Given the description of an element on the screen output the (x, y) to click on. 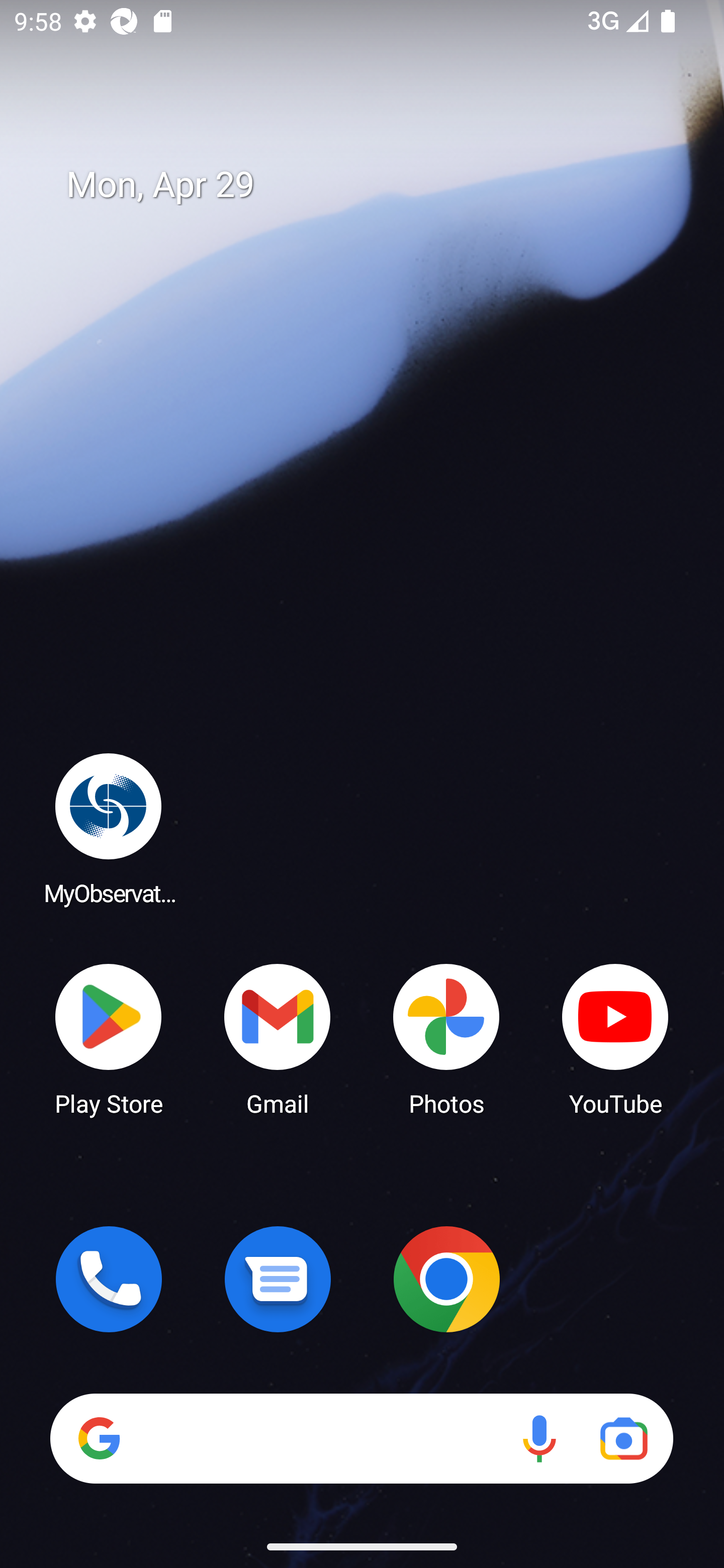
Mon, Apr 29 (375, 184)
MyObservatory (108, 828)
Play Store (108, 1038)
Gmail (277, 1038)
Photos (445, 1038)
YouTube (615, 1038)
Phone (108, 1279)
Messages (277, 1279)
Chrome (446, 1279)
Voice search (539, 1438)
Google Lens (623, 1438)
